Given the description of an element on the screen output the (x, y) to click on. 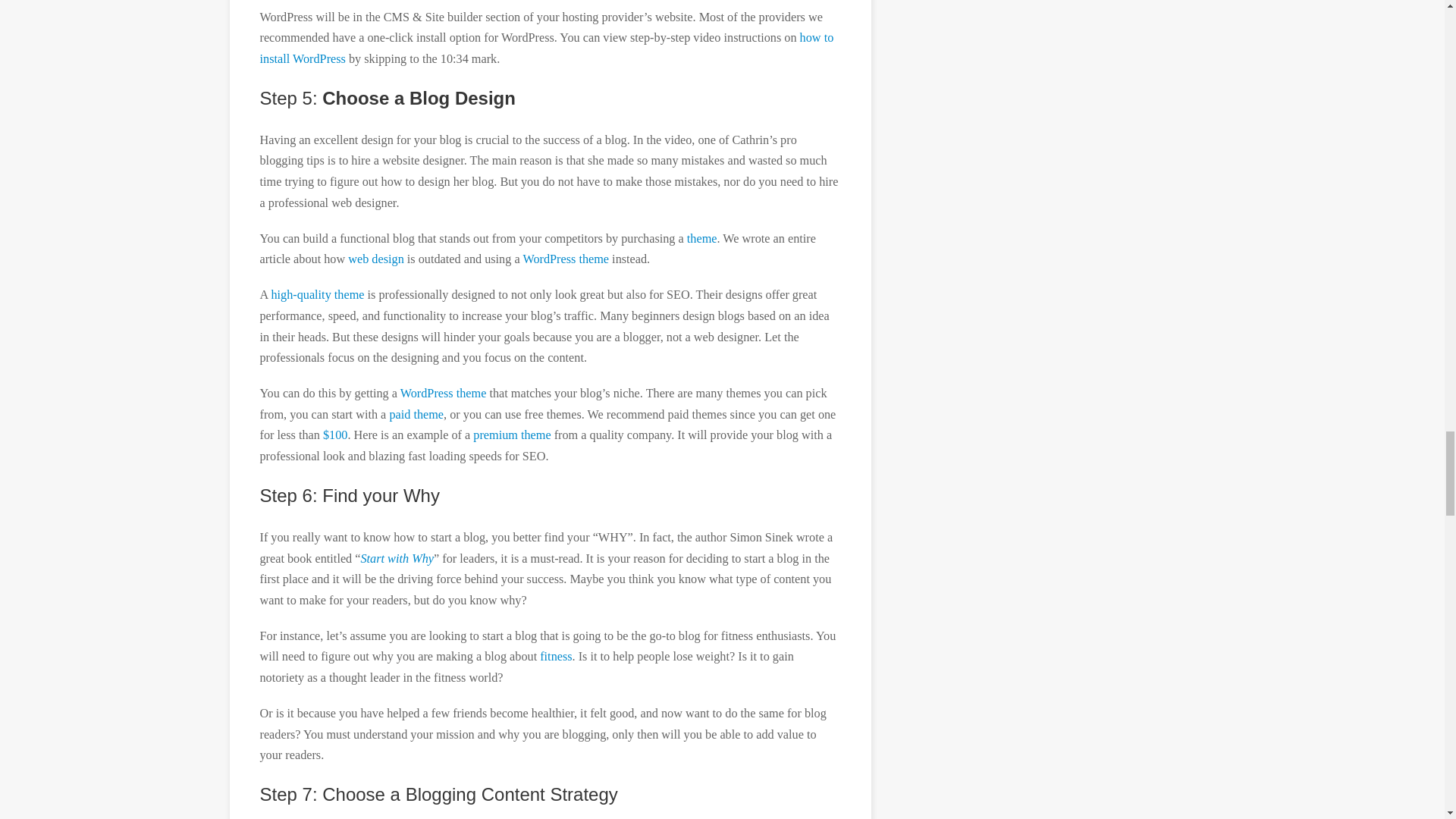
Popular Themes Category (416, 414)
Writer Theme (511, 435)
Fitness Theme (556, 656)
Start With Why Book (396, 558)
